Given the description of an element on the screen output the (x, y) to click on. 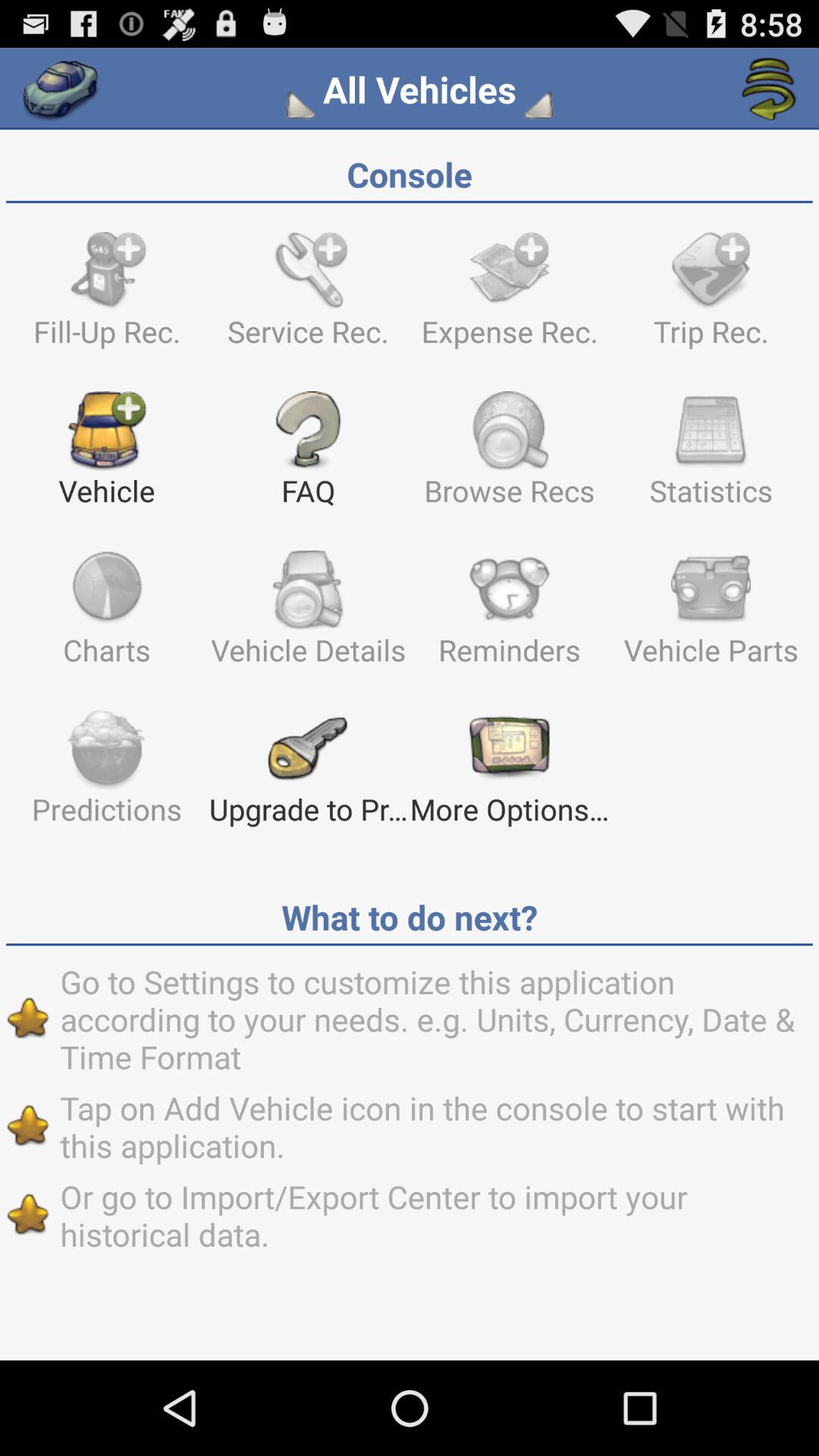
launch icon above reminders icon (710, 455)
